Given the description of an element on the screen output the (x, y) to click on. 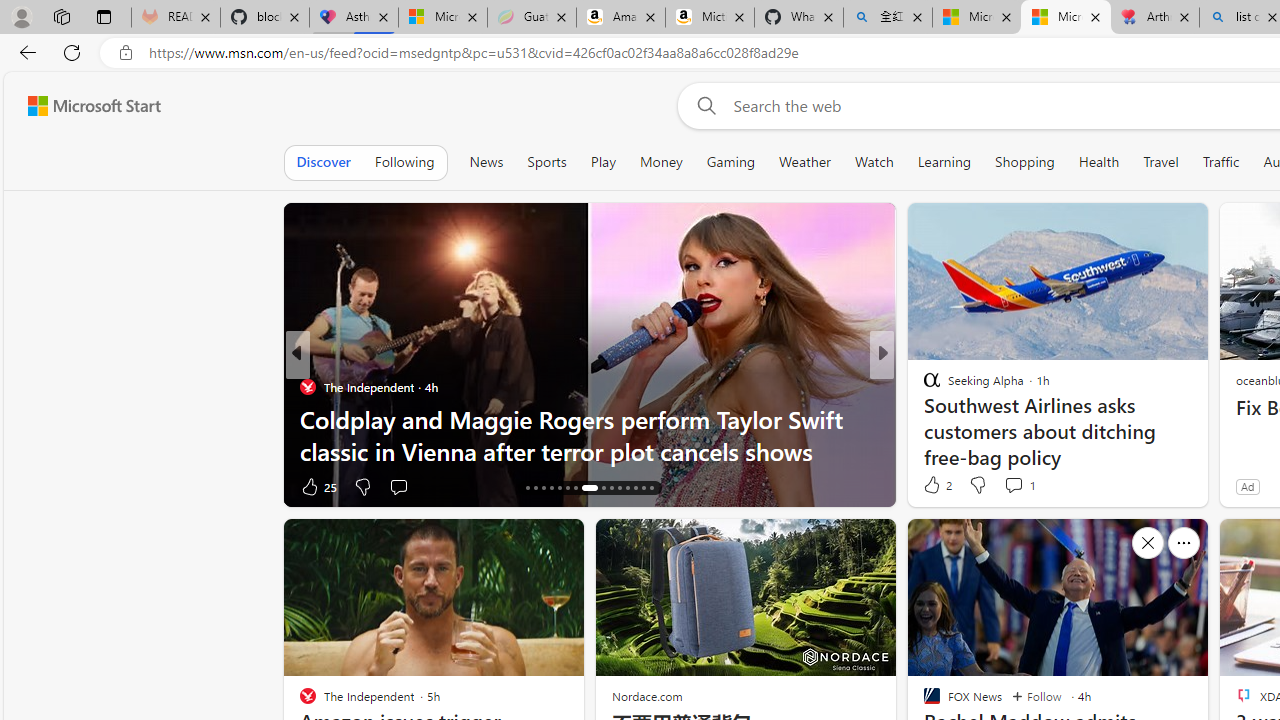
Play (602, 161)
AutomationID: tab-27 (627, 487)
Sports (546, 162)
Following (404, 162)
Sports (546, 161)
AutomationID: tab-17 (535, 487)
Learning (944, 162)
View comments 7 Comment (1019, 485)
View comments 25 Comment (398, 485)
The Washington Post (923, 386)
Inverse (307, 386)
20 Like (934, 486)
AutomationID: tab-19 (550, 487)
Watch (874, 162)
